Given the description of an element on the screen output the (x, y) to click on. 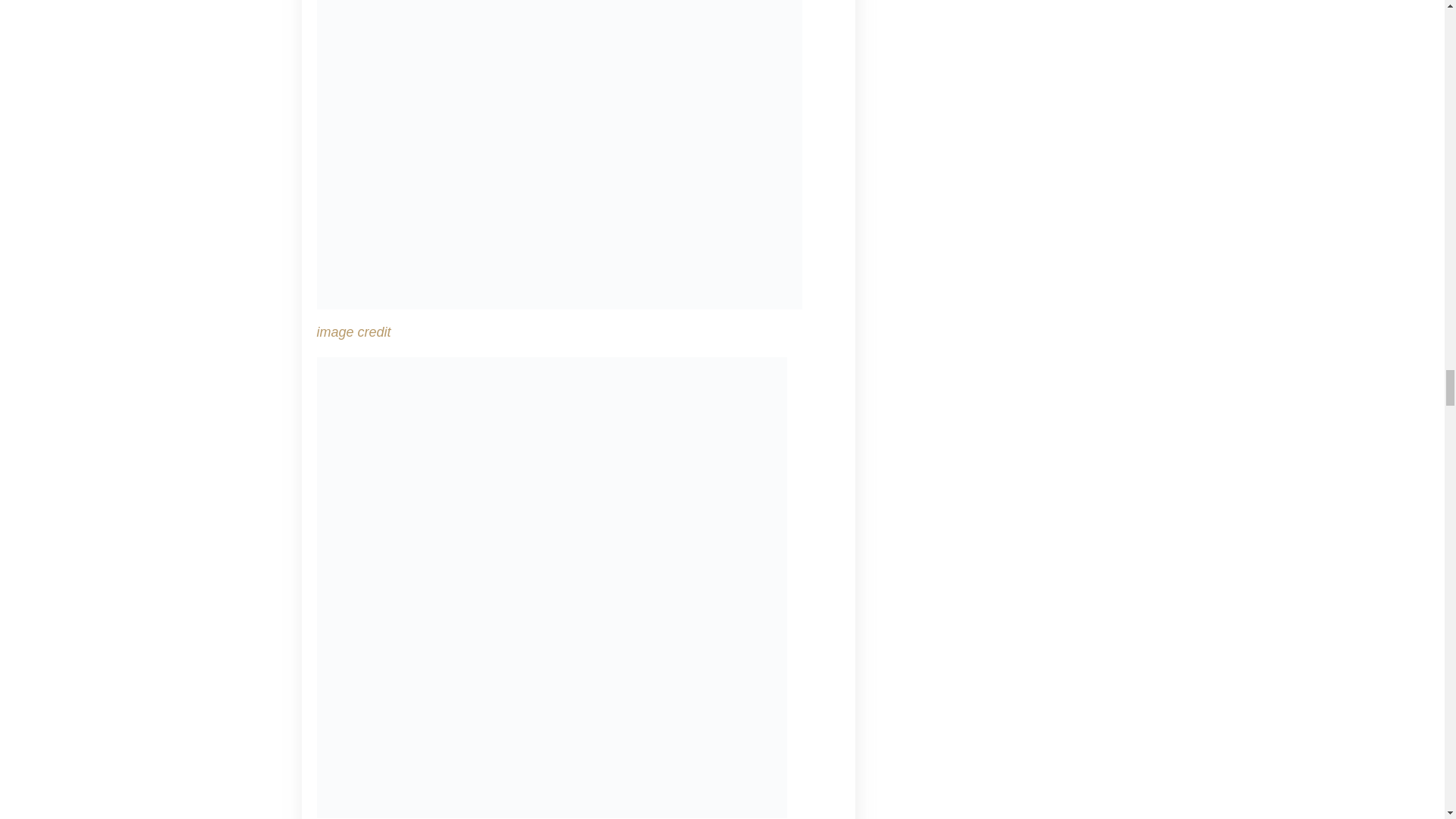
image credit (354, 331)
